Given the description of an element on the screen output the (x, y) to click on. 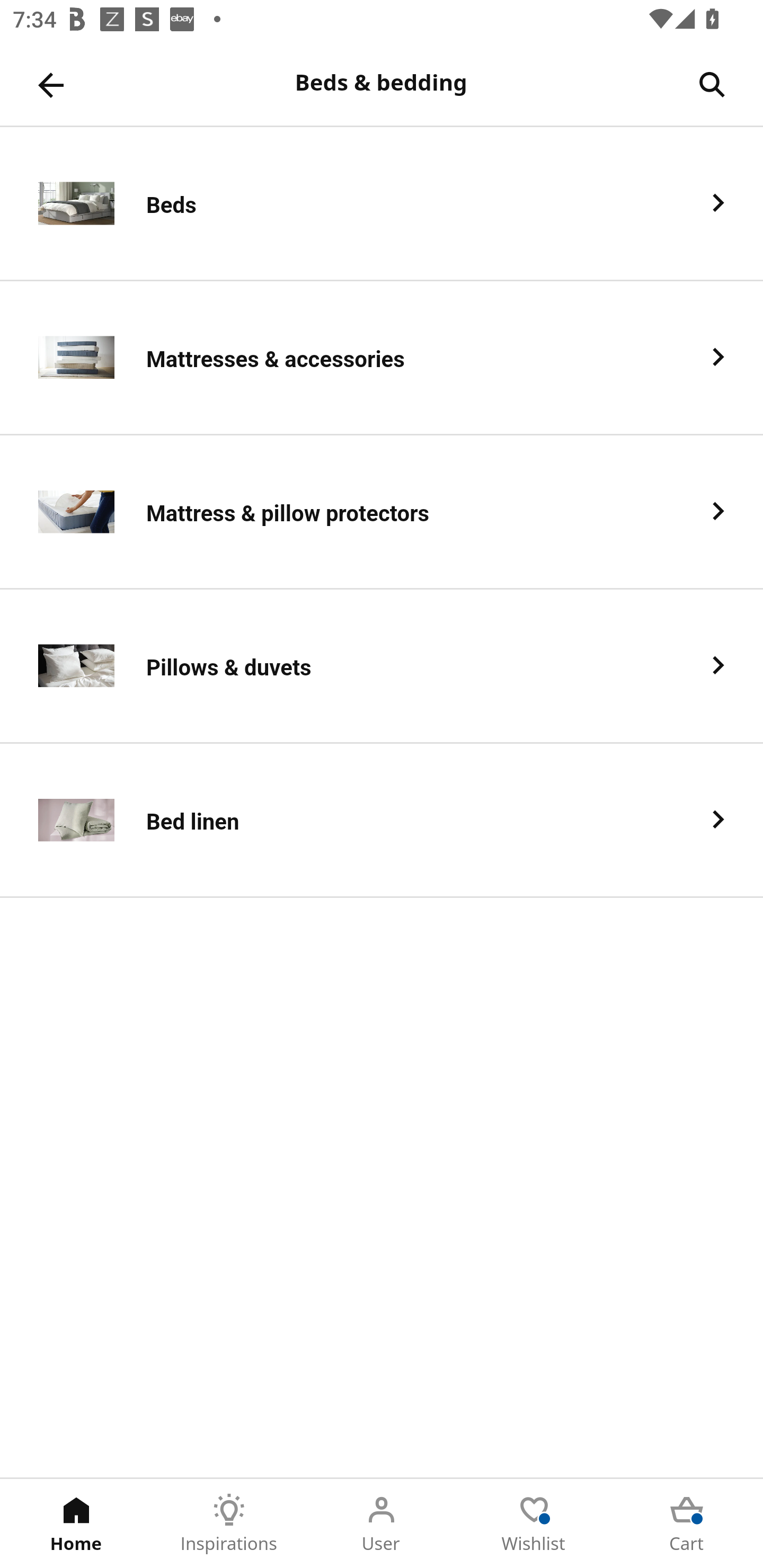
Beds (381, 203)
Mattresses & accessories (381, 357)
Mattress & pillow protectors (381, 512)
Pillows & duvets (381, 666)
Bed linen (381, 820)
Home
Tab 1 of 5 (76, 1522)
Inspirations
Tab 2 of 5 (228, 1522)
User
Tab 3 of 5 (381, 1522)
Wishlist
Tab 4 of 5 (533, 1522)
Cart
Tab 5 of 5 (686, 1522)
